Given the description of an element on the screen output the (x, y) to click on. 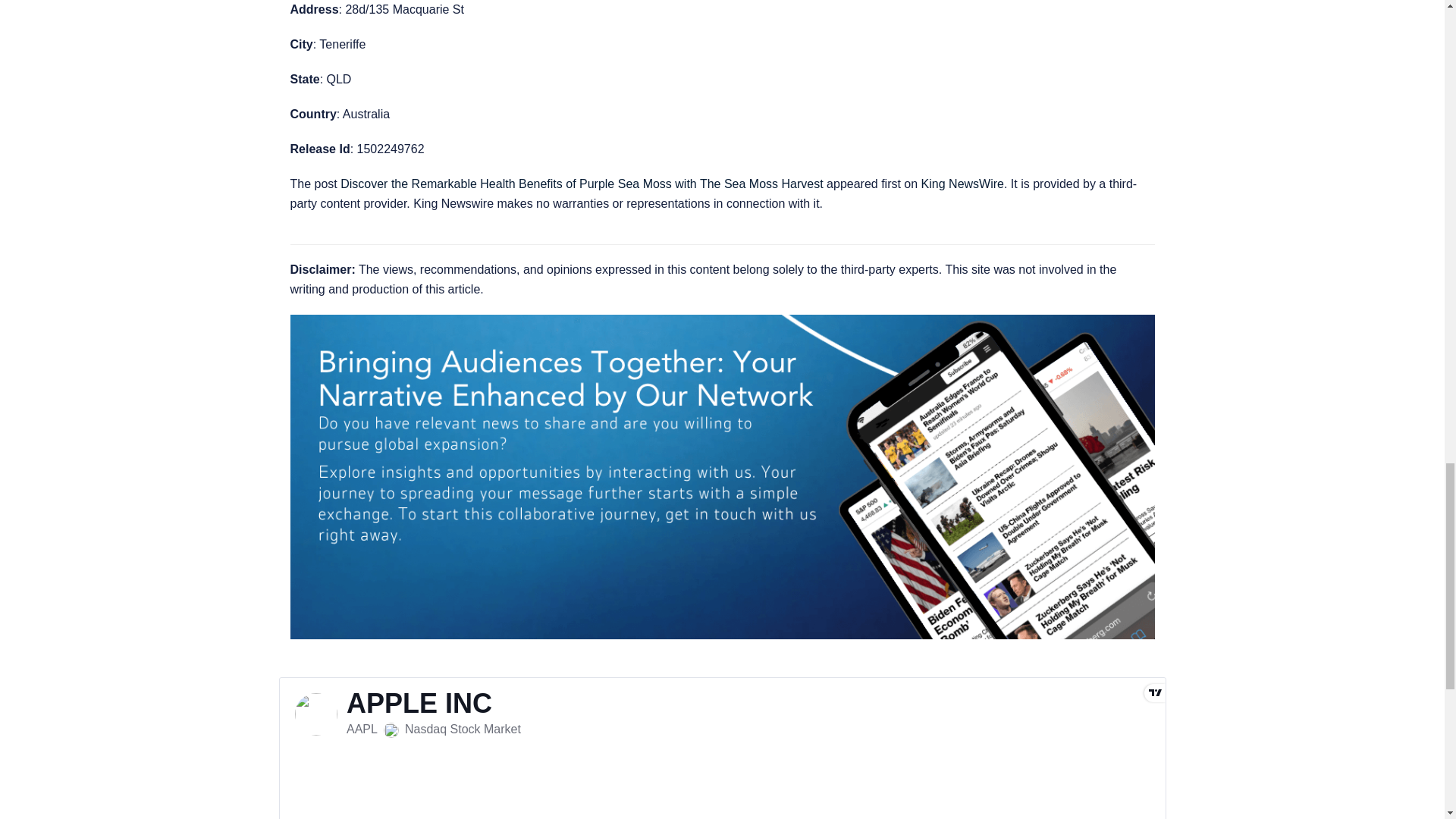
King NewsWire (962, 183)
symbol info TradingView widget (722, 748)
